Given the description of an element on the screen output the (x, y) to click on. 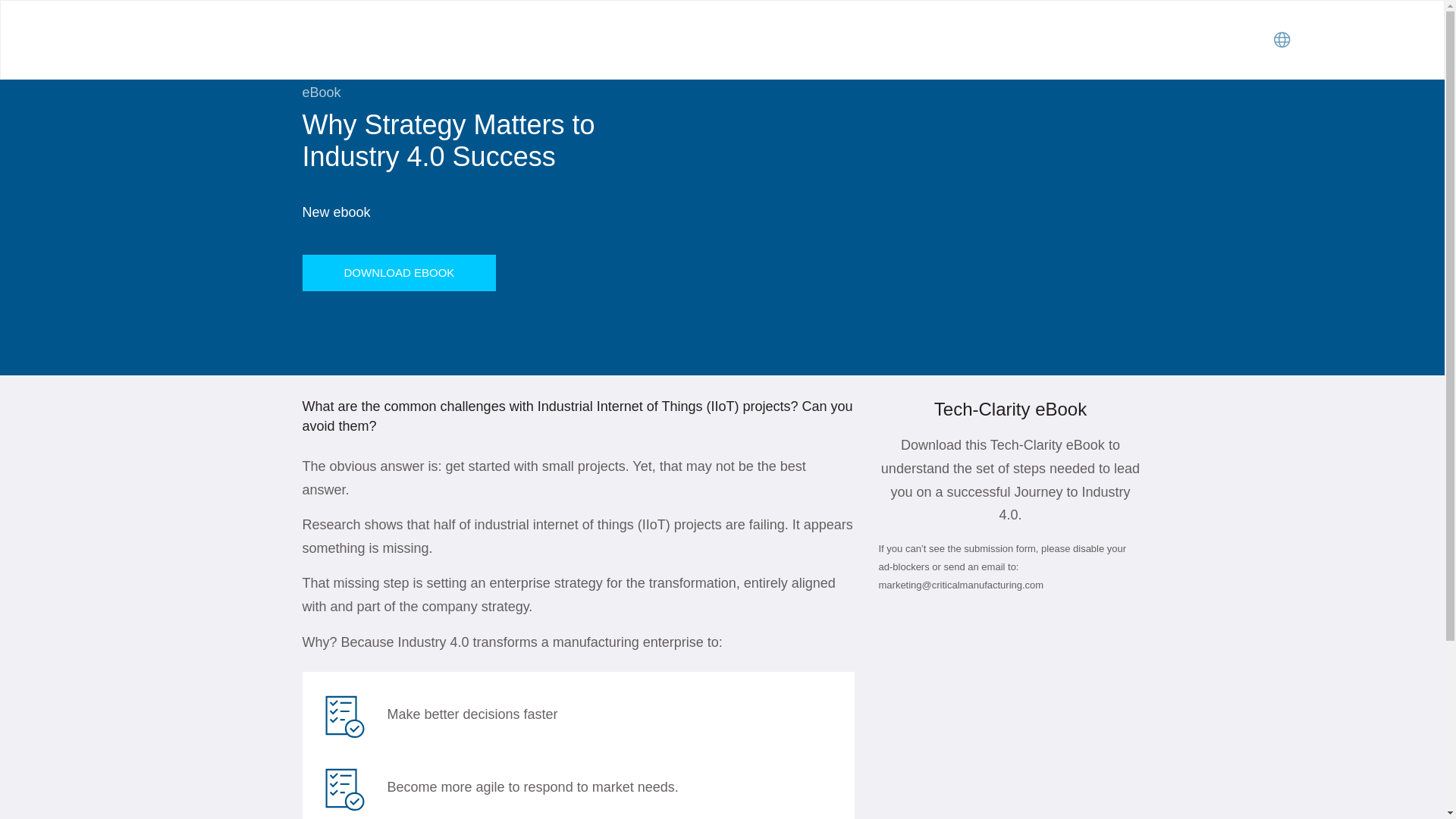
Critical Manufacturing (211, 38)
Download eBook (398, 272)
DOWNLOAD EBOOK (398, 272)
